Given the description of an element on the screen output the (x, y) to click on. 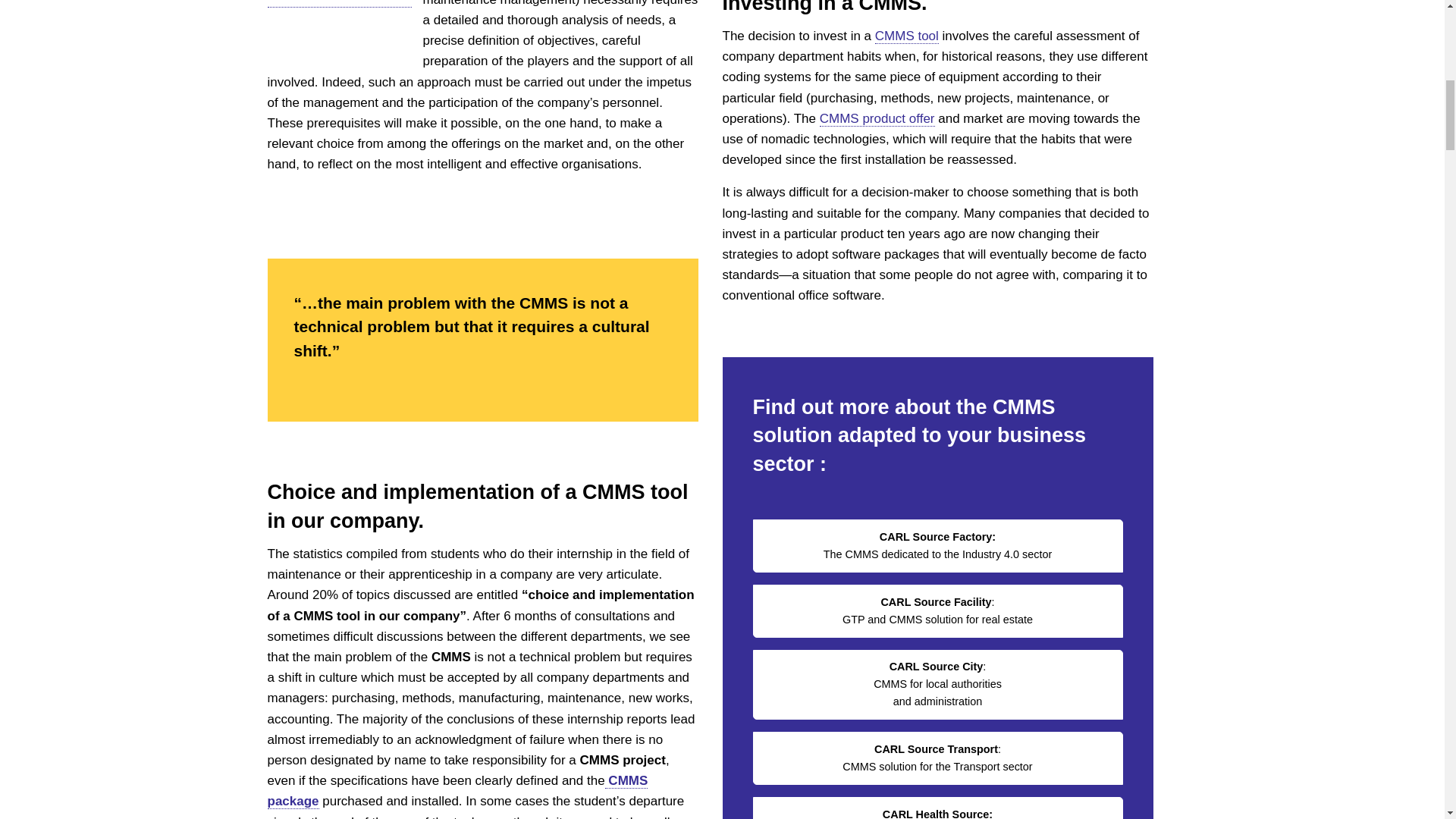
 CMMS CARL Source V6 (338, 26)
CMMS software package CARL Source 6 (456, 791)
